Given the description of an element on the screen output the (x, y) to click on. 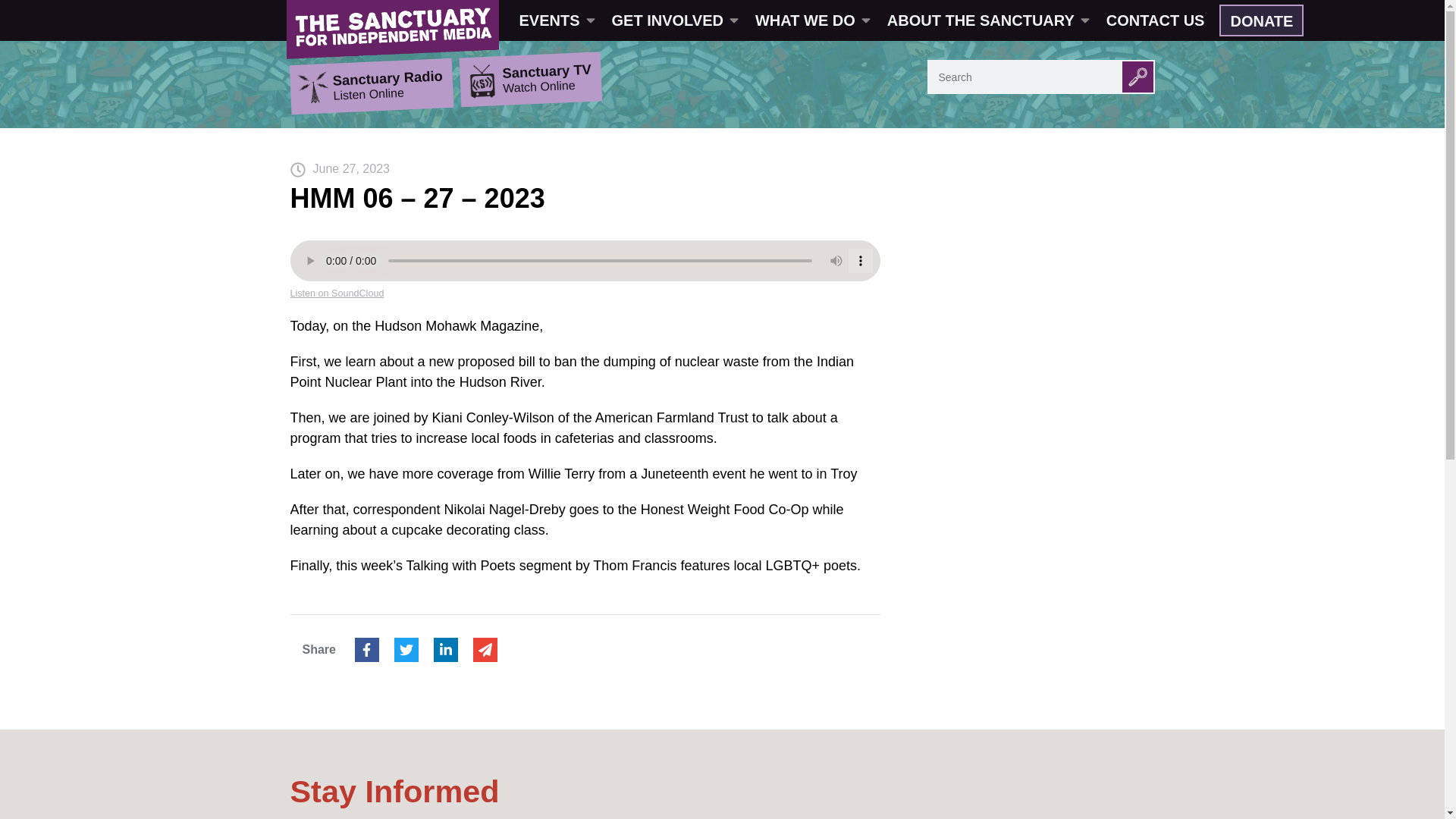
EVENTS (555, 20)
ABOUT THE SANCTUARY (987, 20)
GET INVOLVED (673, 20)
WHAT WE DO (811, 20)
